Given the description of an element on the screen output the (x, y) to click on. 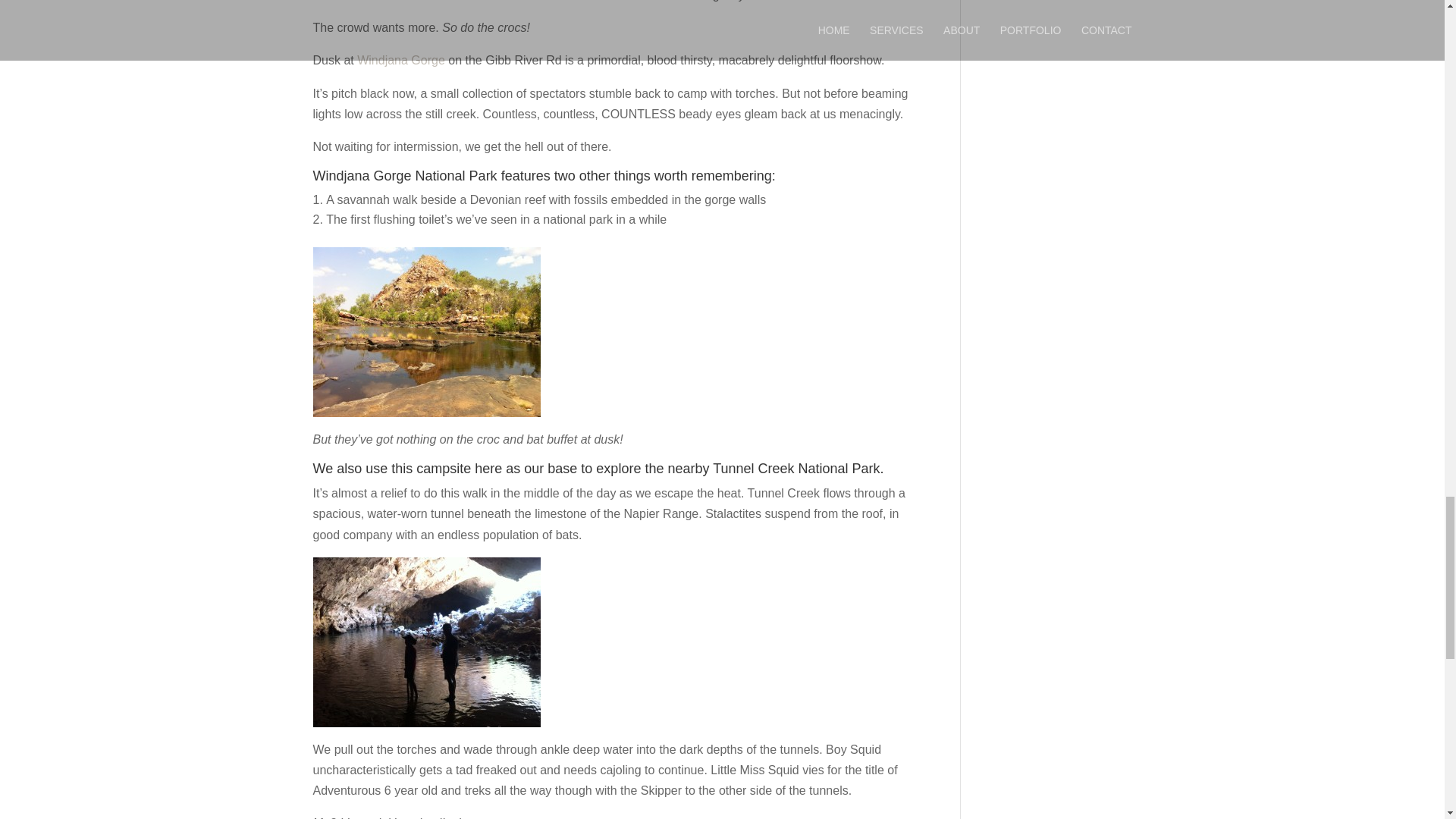
Tunnel Creek National Park. (798, 468)
Windjana Gorge National Park (404, 175)
Windjana Gorge (400, 60)
